Given the description of an element on the screen output the (x, y) to click on. 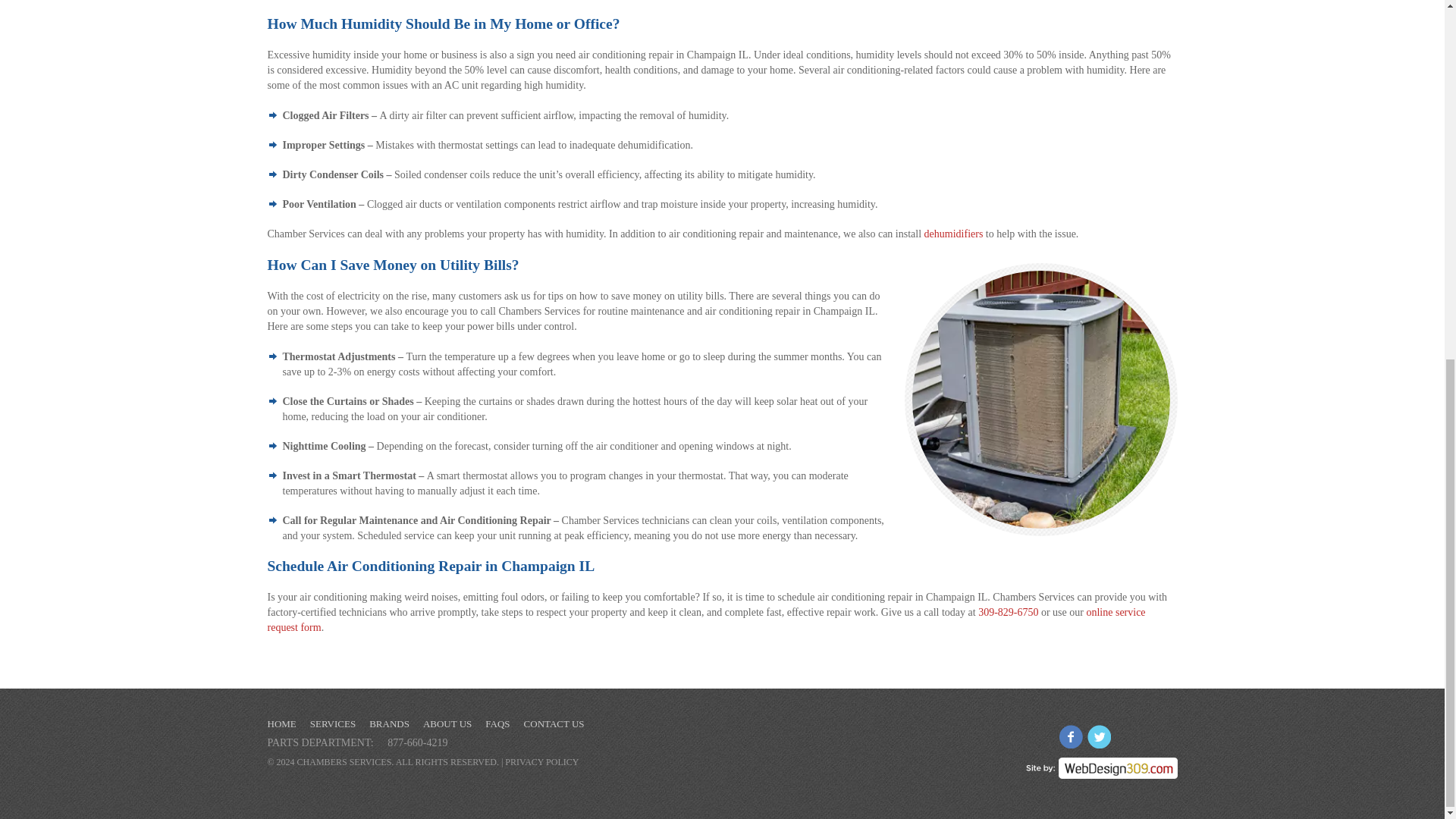
Site By Webdesign309.com (1100, 763)
